Given the description of an element on the screen output the (x, y) to click on. 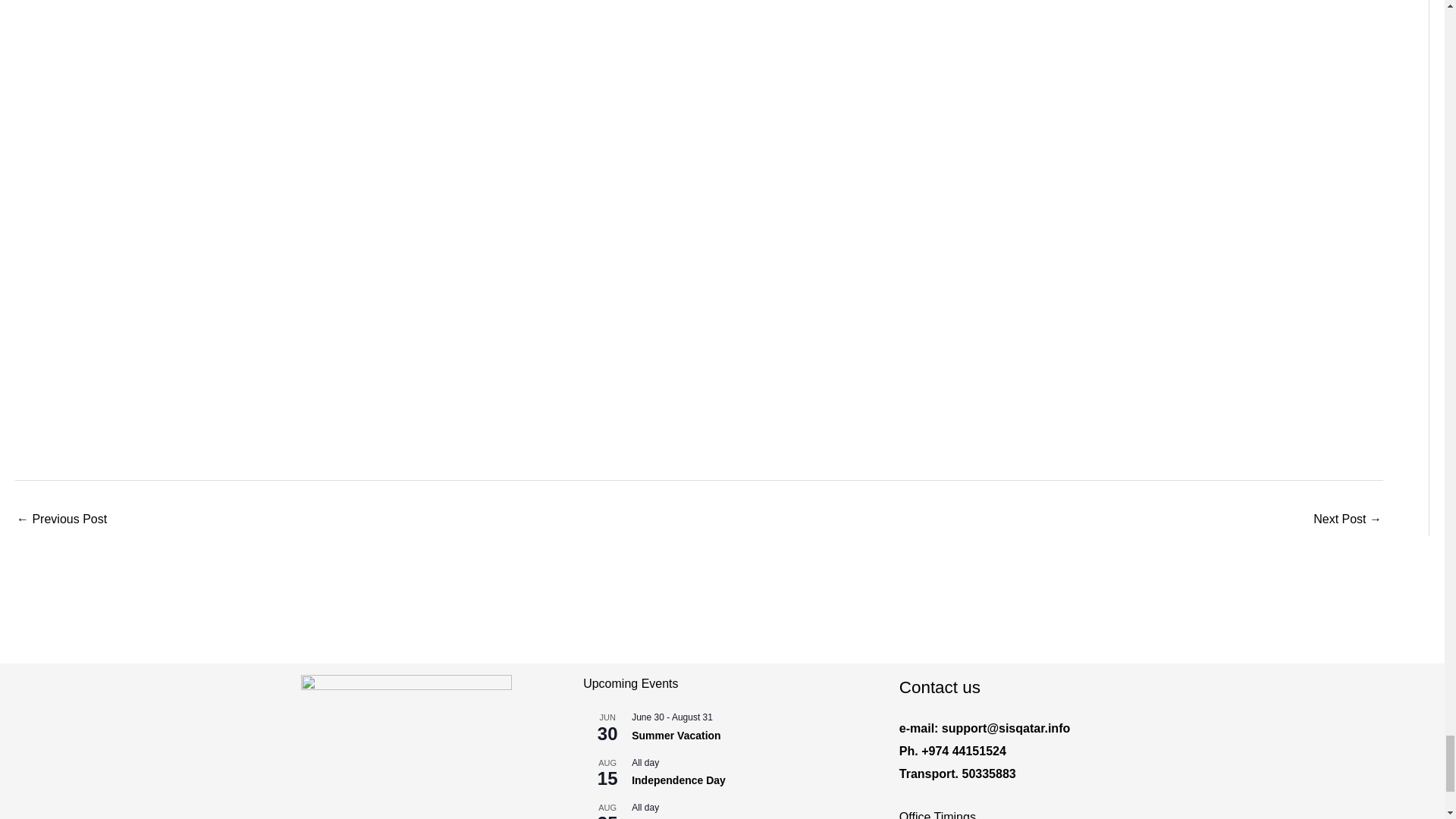
Independence  Day (678, 780)
CBSE Qatar Cluster Basketball Tournament 2019-20 (61, 520)
Summer Vacation (675, 735)
SIS Students Stand out as Champions in Ideal Literati (1347, 520)
